Given the description of an element on the screen output the (x, y) to click on. 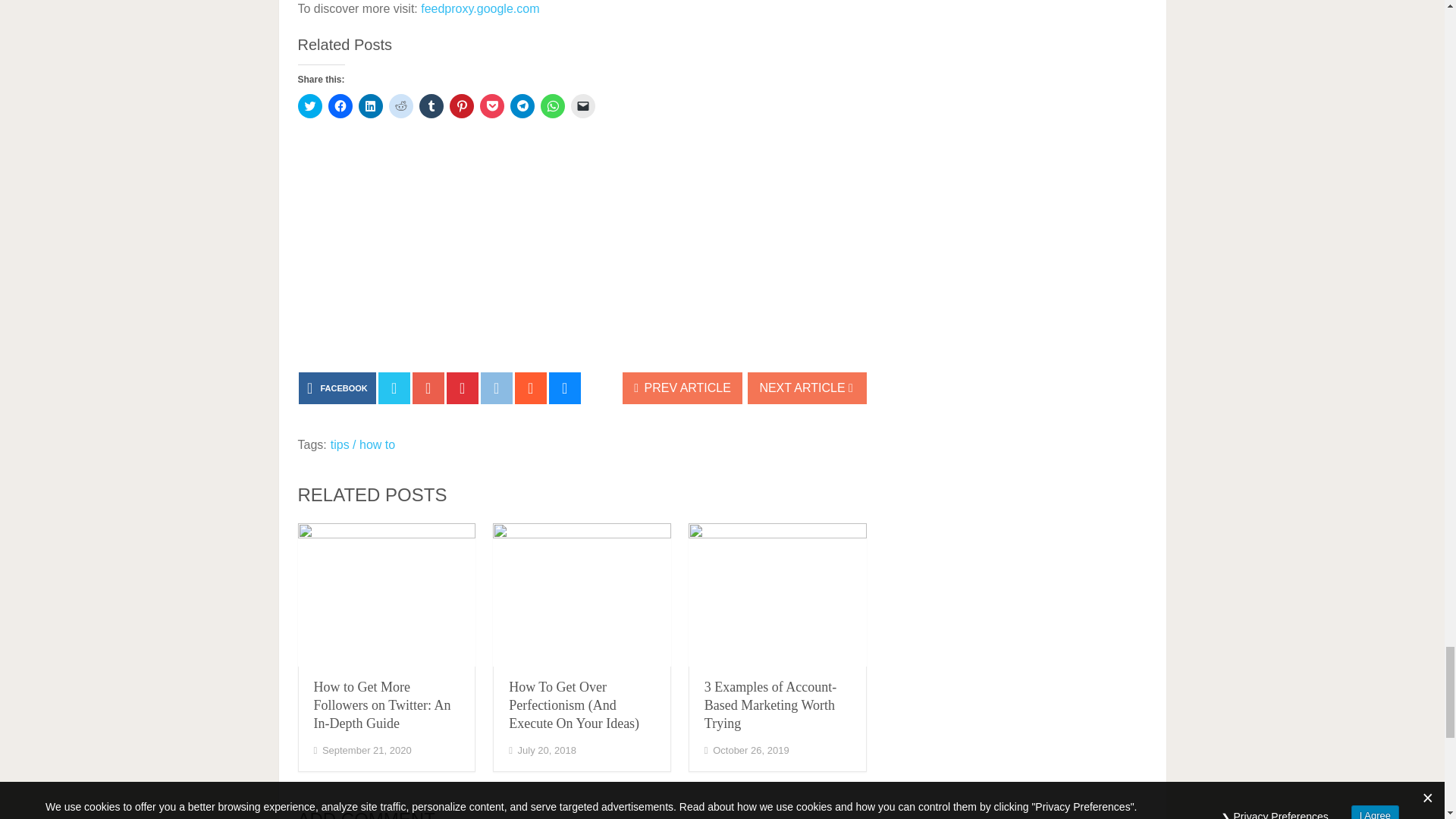
Click to email a link to a friend (582, 105)
Click to share on Pocket (491, 105)
Click to share on Tumblr (430, 105)
Click to share on Reddit (400, 105)
Click to share on Telegram (521, 105)
Click to share on Pinterest (460, 105)
Click to share on Twitter (309, 105)
Click to share on LinkedIn (369, 105)
Click to share on WhatsApp (552, 105)
Click to share on Facebook (339, 105)
